Given the description of an element on the screen output the (x, y) to click on. 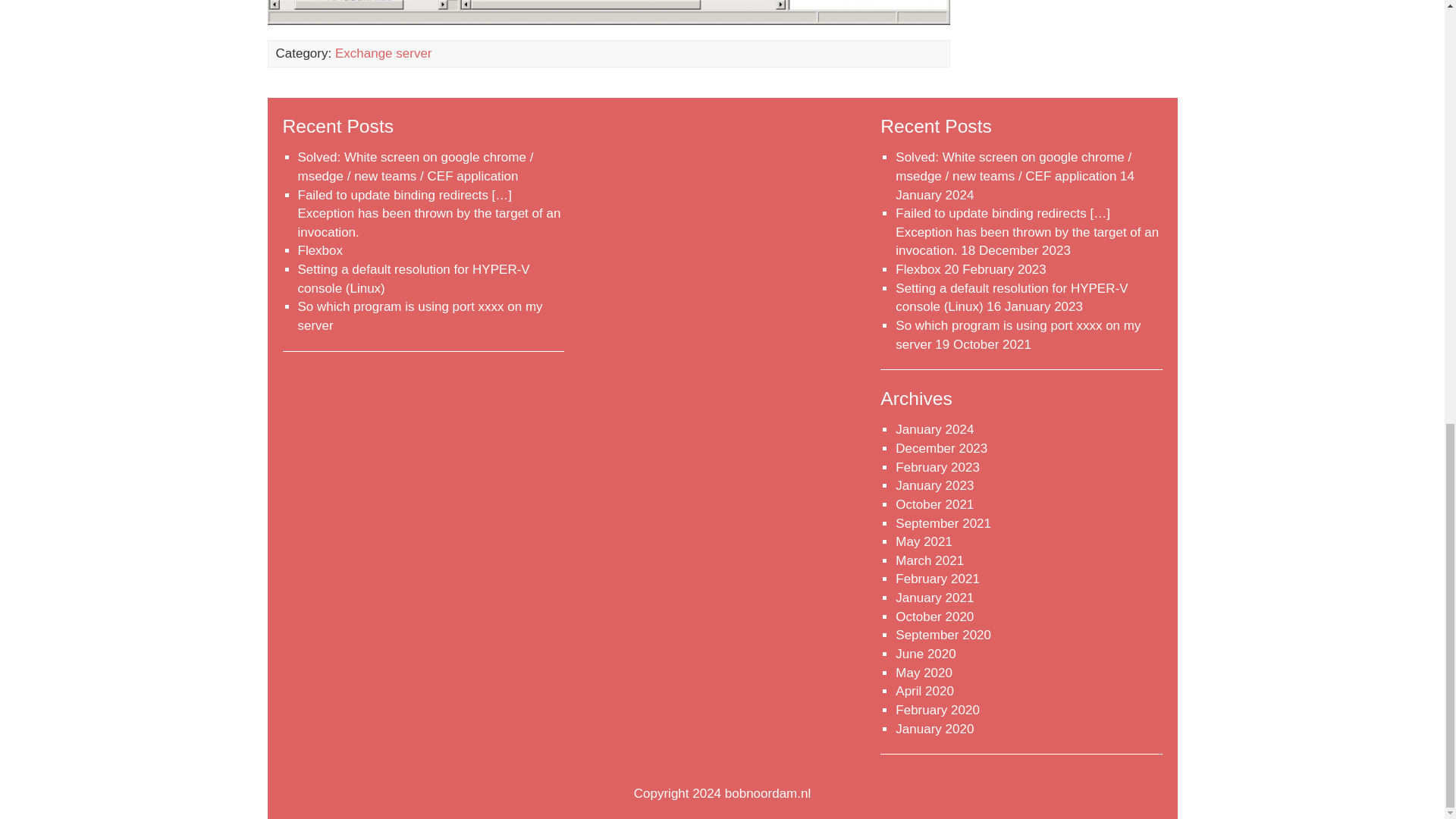
So which program is using port xxxx on my server (419, 315)
So which program is using port xxxx on my server (1017, 335)
January 2024 (934, 429)
December 2023 (941, 448)
Flexbox (917, 269)
Exchange server (383, 52)
February 2023 (937, 467)
bobnoordam.nl (767, 793)
Flexbox (319, 250)
